Given the description of an element on the screen output the (x, y) to click on. 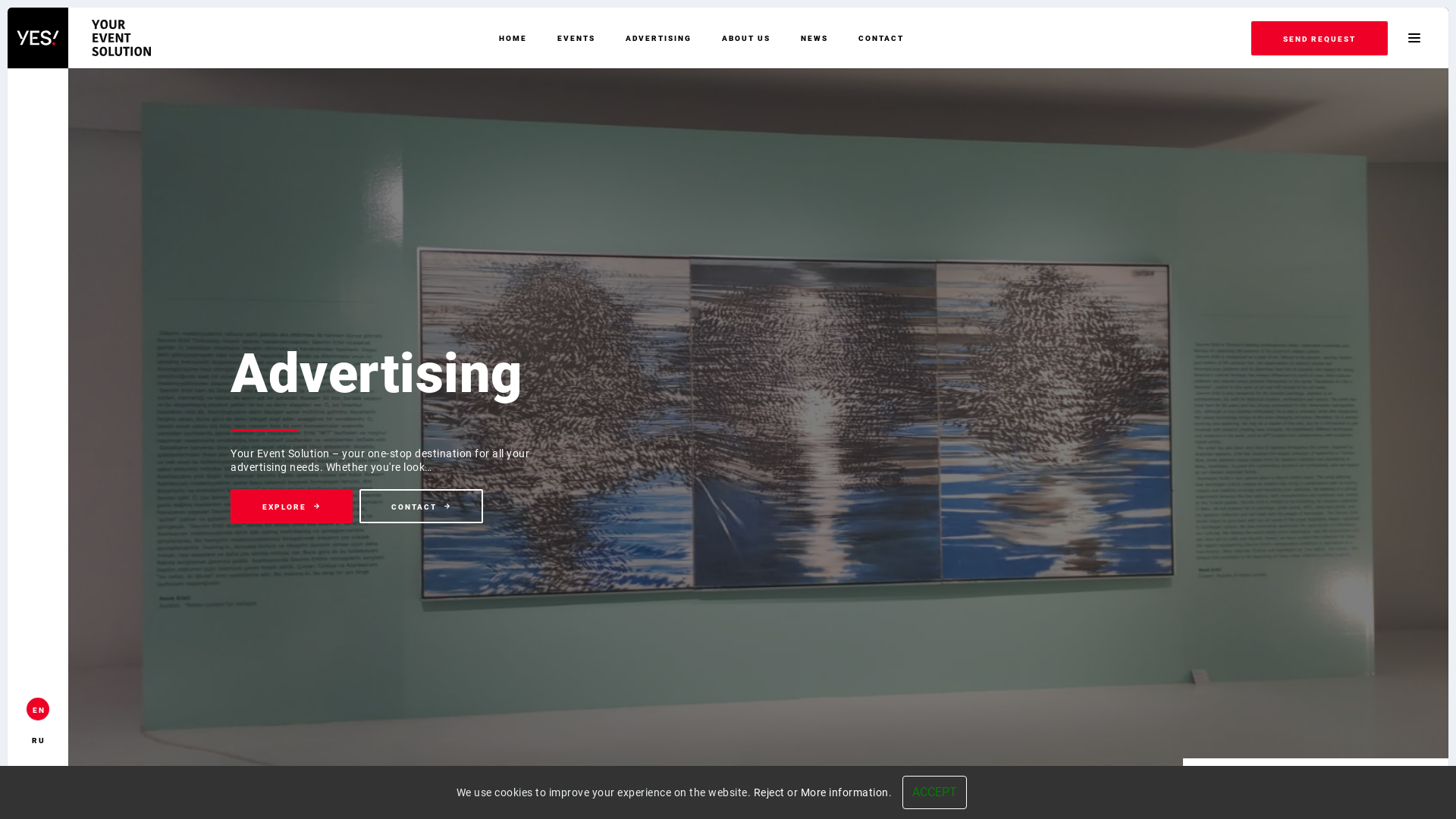
ES Element type: text (37, 769)
CONTACT Element type: text (880, 37)
ABOUT US Element type: text (745, 37)
SEND REQUEST Element type: text (1319, 38)
HOME Element type: text (512, 37)
NEWS Element type: text (814, 37)
More information. Element type: text (846, 792)
RU Element type: text (37, 739)
Reject Element type: text (768, 792)
EVENTS Element type: text (576, 37)
ADVERTISING Element type: text (658, 37)
EN Element type: text (37, 708)
CONTACT Element type: text (556, 506)
EXPLORE Element type: text (465, 506)
ACCEPT Element type: text (934, 792)
